Given the description of an element on the screen output the (x, y) to click on. 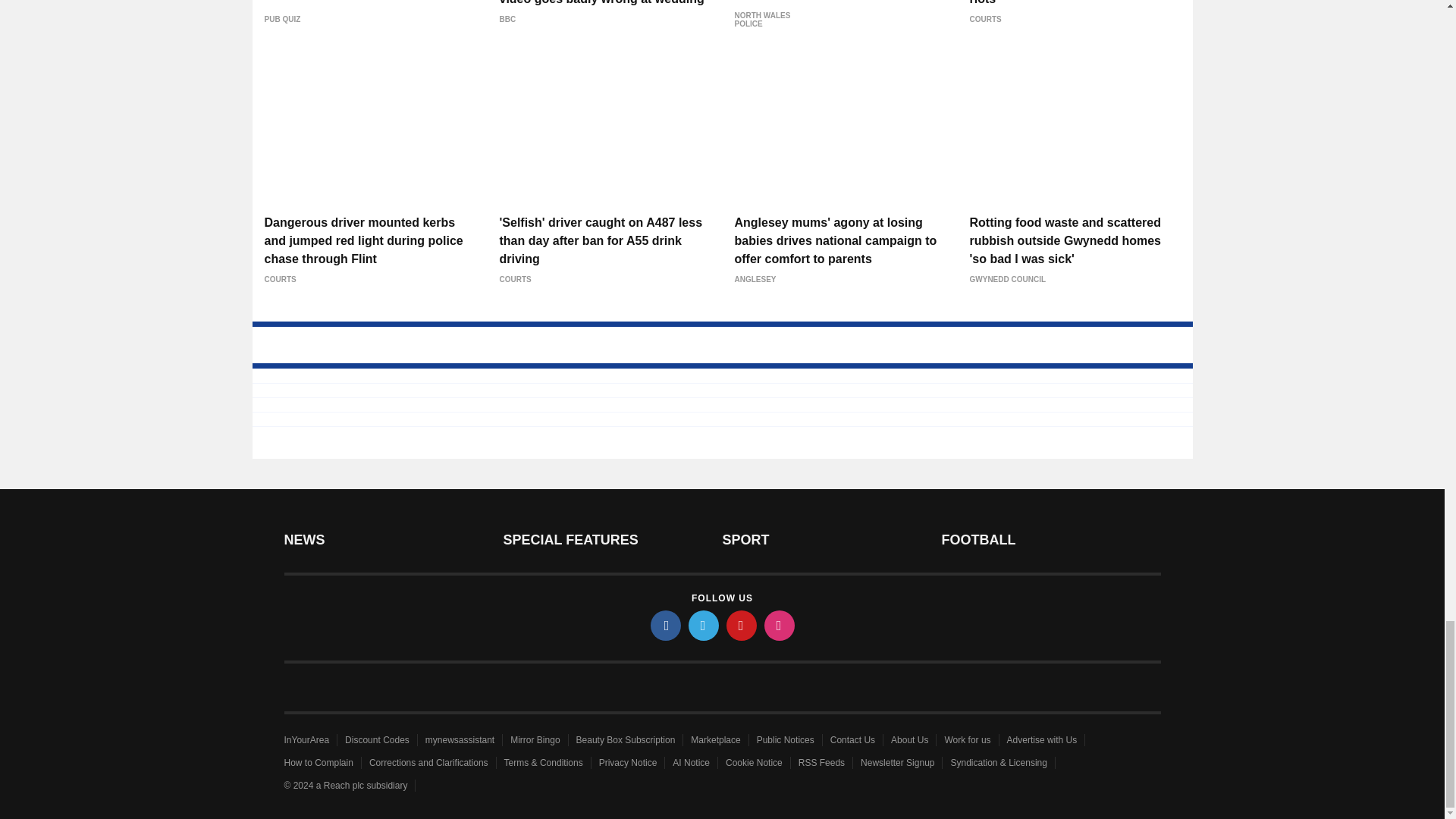
pinterest (741, 625)
instagram (779, 625)
twitter (703, 625)
facebook (665, 625)
